Given the description of an element on the screen output the (x, y) to click on. 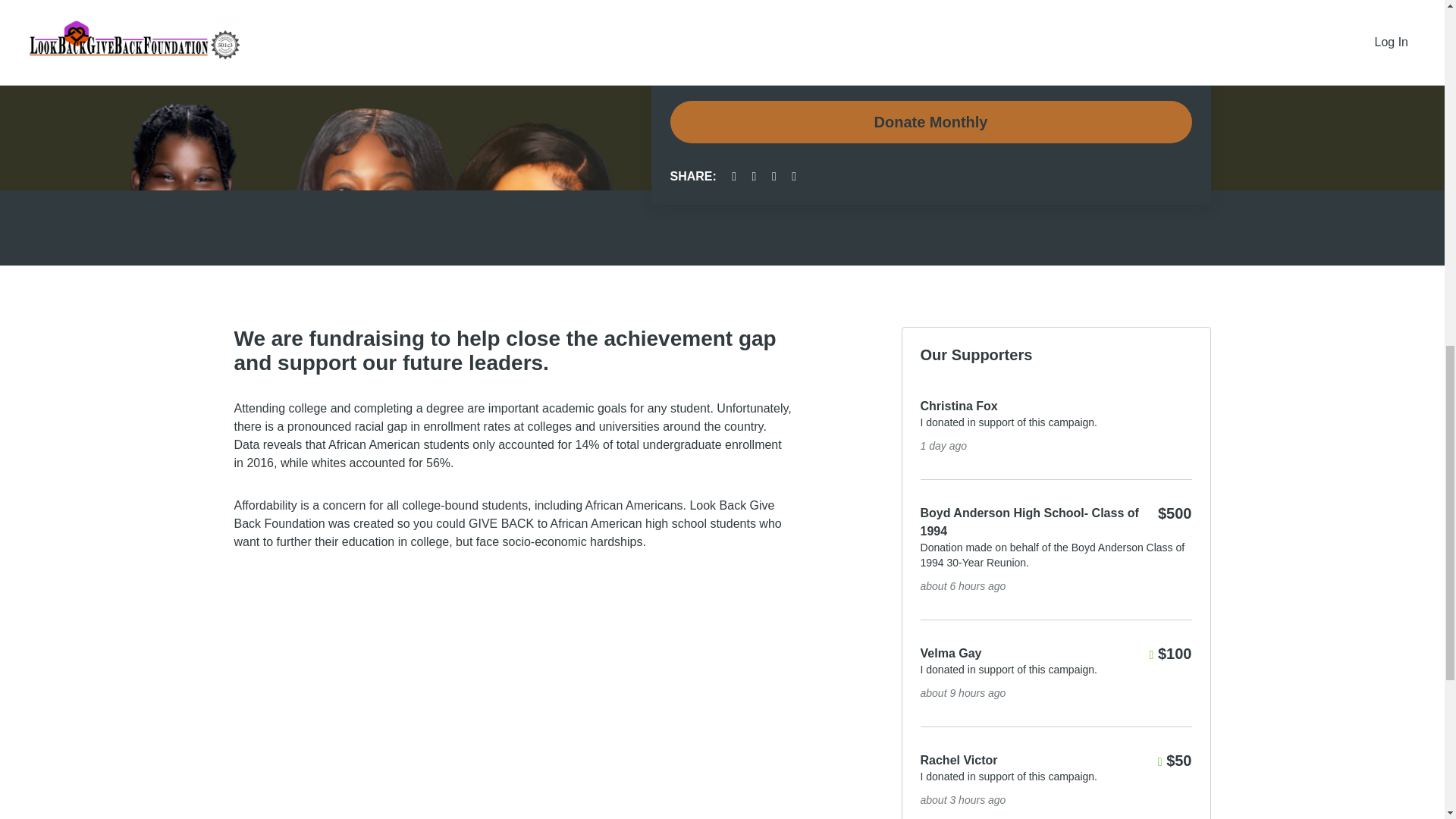
Donate Monthly (930, 121)
